Given the description of an element on the screen output the (x, y) to click on. 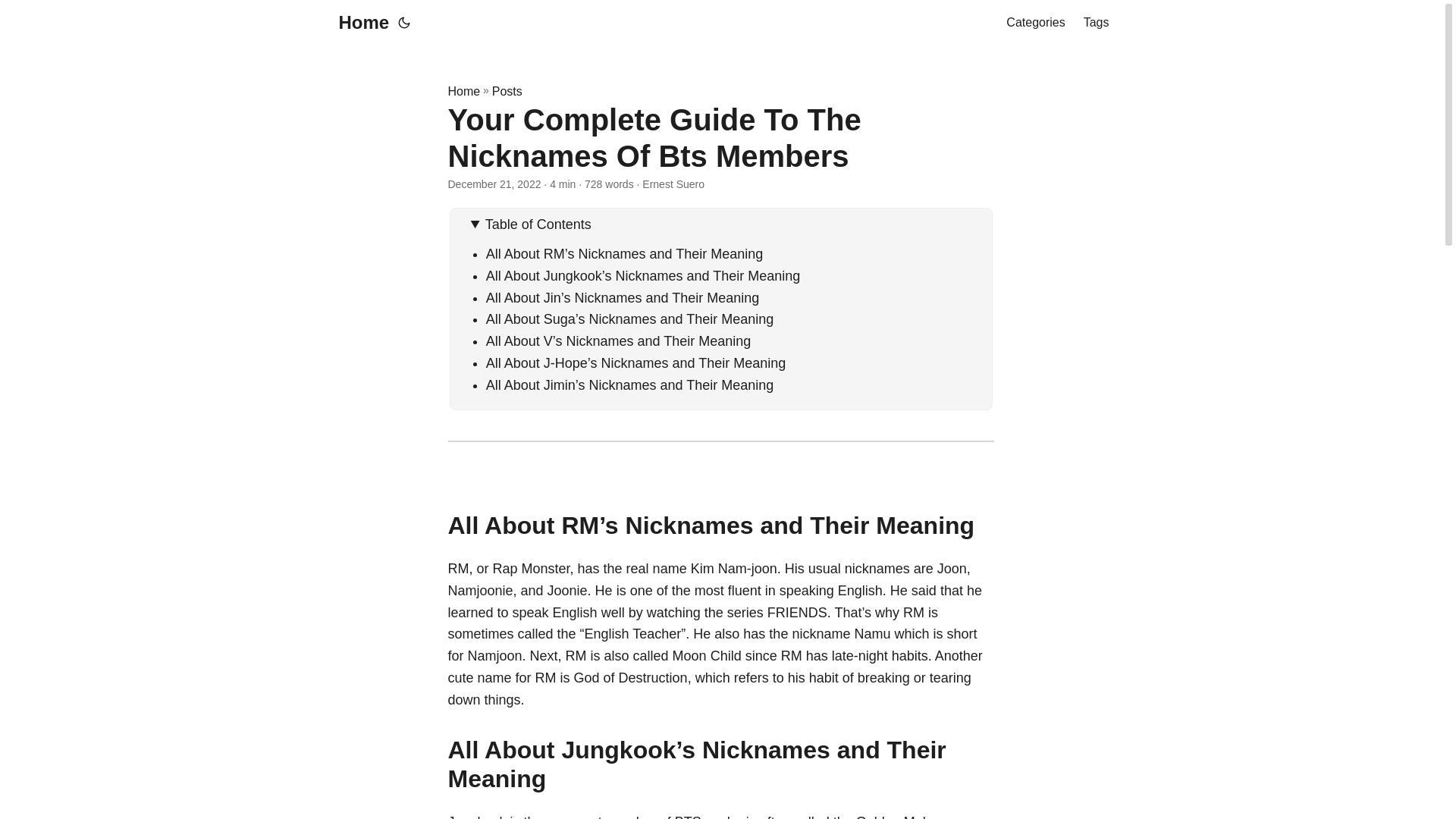
Categories (1035, 22)
Home (463, 91)
Categories (1035, 22)
Home (359, 22)
Posts (507, 91)
